Given the description of an element on the screen output the (x, y) to click on. 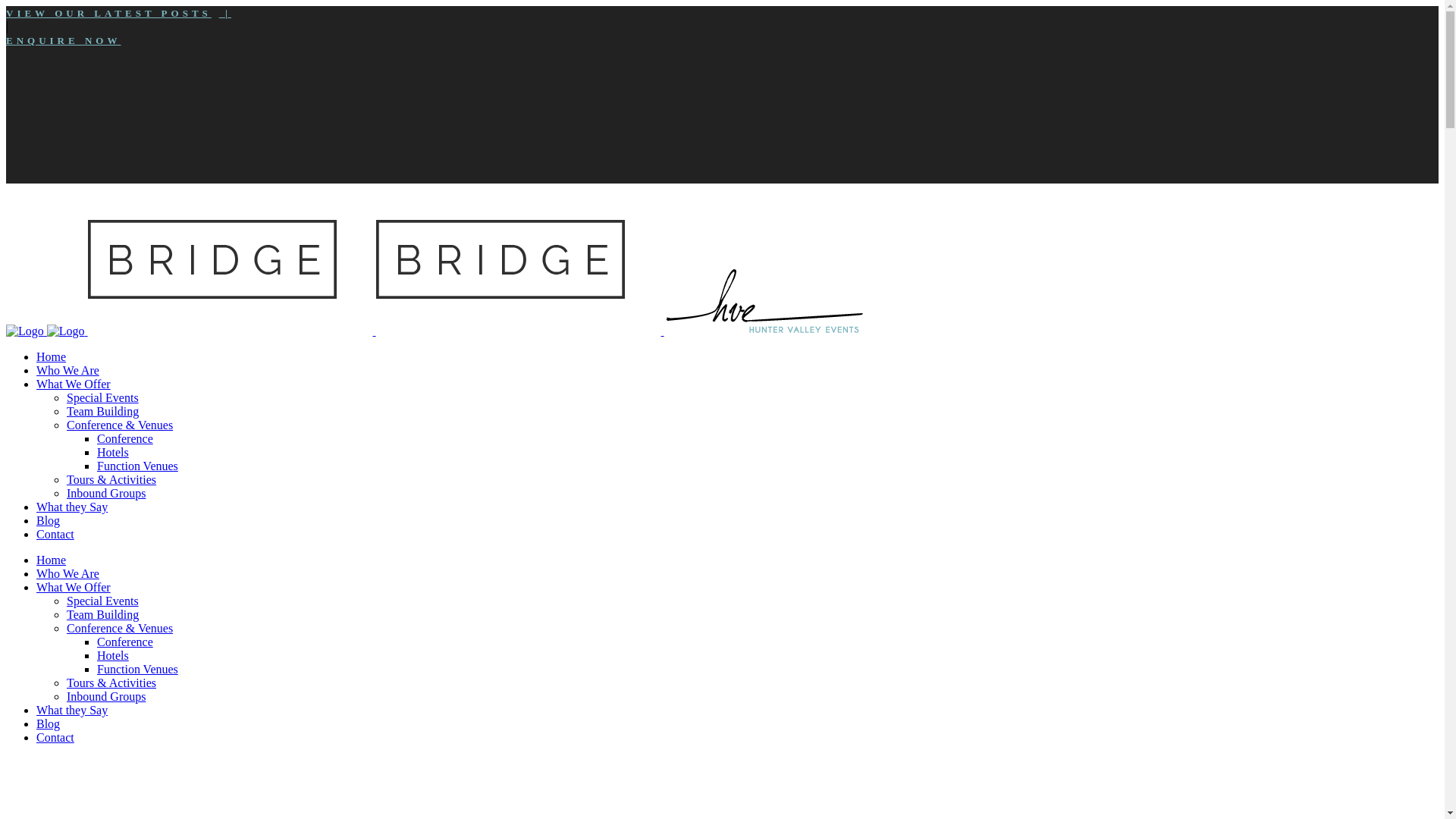
Special Events Element type: text (102, 397)
Contact Element type: text (55, 533)
Conference & Venues Element type: text (119, 627)
Home Element type: text (50, 559)
Conference Element type: text (125, 641)
Home Element type: text (50, 356)
What We Offer Element type: text (73, 383)
Blog Element type: text (47, 520)
Hotels Element type: text (112, 655)
Team Building Element type: text (102, 614)
What We Offer Element type: text (73, 586)
Conference Element type: text (125, 438)
Function Venues Element type: text (137, 668)
Team Building Element type: text (102, 410)
Who We Are Element type: text (67, 573)
Conference & Venues Element type: text (119, 424)
Special Events Element type: text (102, 600)
Contact Element type: text (55, 737)
VIEW OUR LATEST POSTS | Element type: text (118, 12)
What they Say Element type: text (71, 506)
Who We Are Element type: text (67, 370)
Blog Element type: text (47, 723)
ENQUIRE NOW Element type: text (63, 40)
Hotels Element type: text (112, 451)
What they Say Element type: text (71, 709)
Function Venues Element type: text (137, 465)
Tours & Activities Element type: text (111, 682)
Tours & Activities Element type: text (111, 479)
Inbound Groups Element type: text (105, 696)
Inbound Groups Element type: text (105, 492)
